Given the description of an element on the screen output the (x, y) to click on. 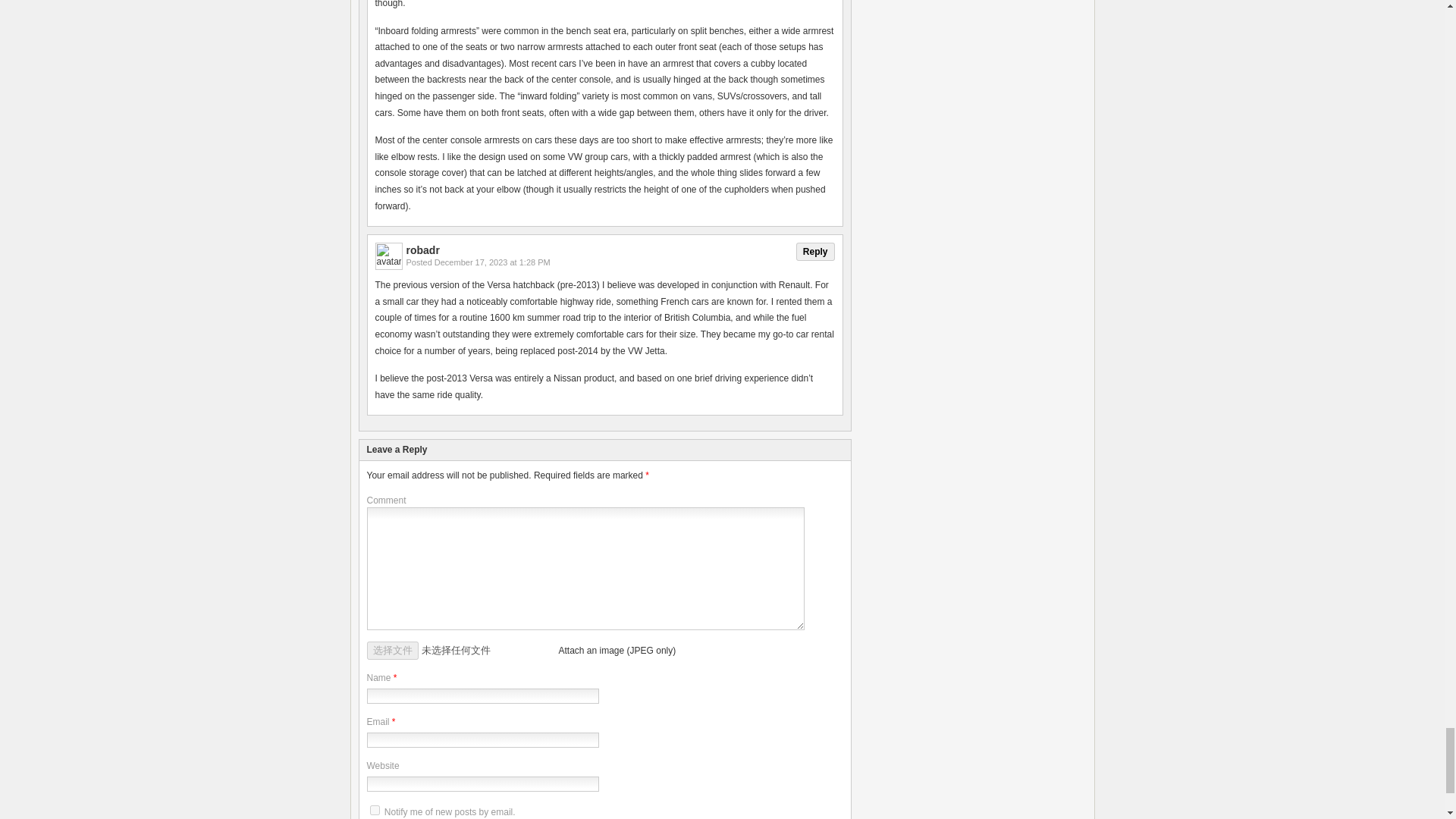
subscribe (374, 809)
